Given the description of an element on the screen output the (x, y) to click on. 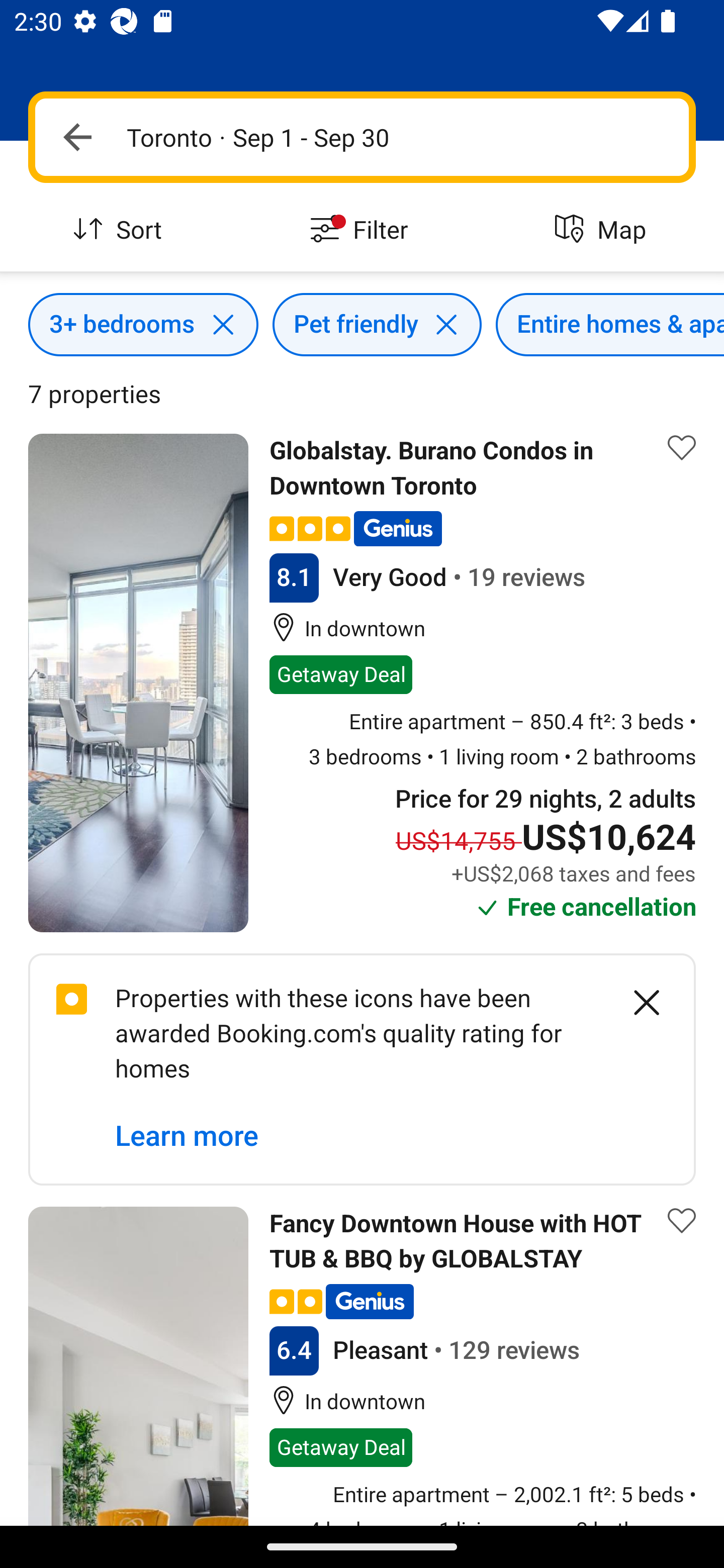
Navigate up Toronto · Sep 1 - Sep 30 (362, 136)
Navigate up (77, 136)
Sort (120, 230)
Filter (361, 230)
Map (603, 230)
Save property to list (681, 447)
Clear (635, 1001)
Learn more (187, 1136)
Save property to list (681, 1220)
